Given the description of an element on the screen output the (x, y) to click on. 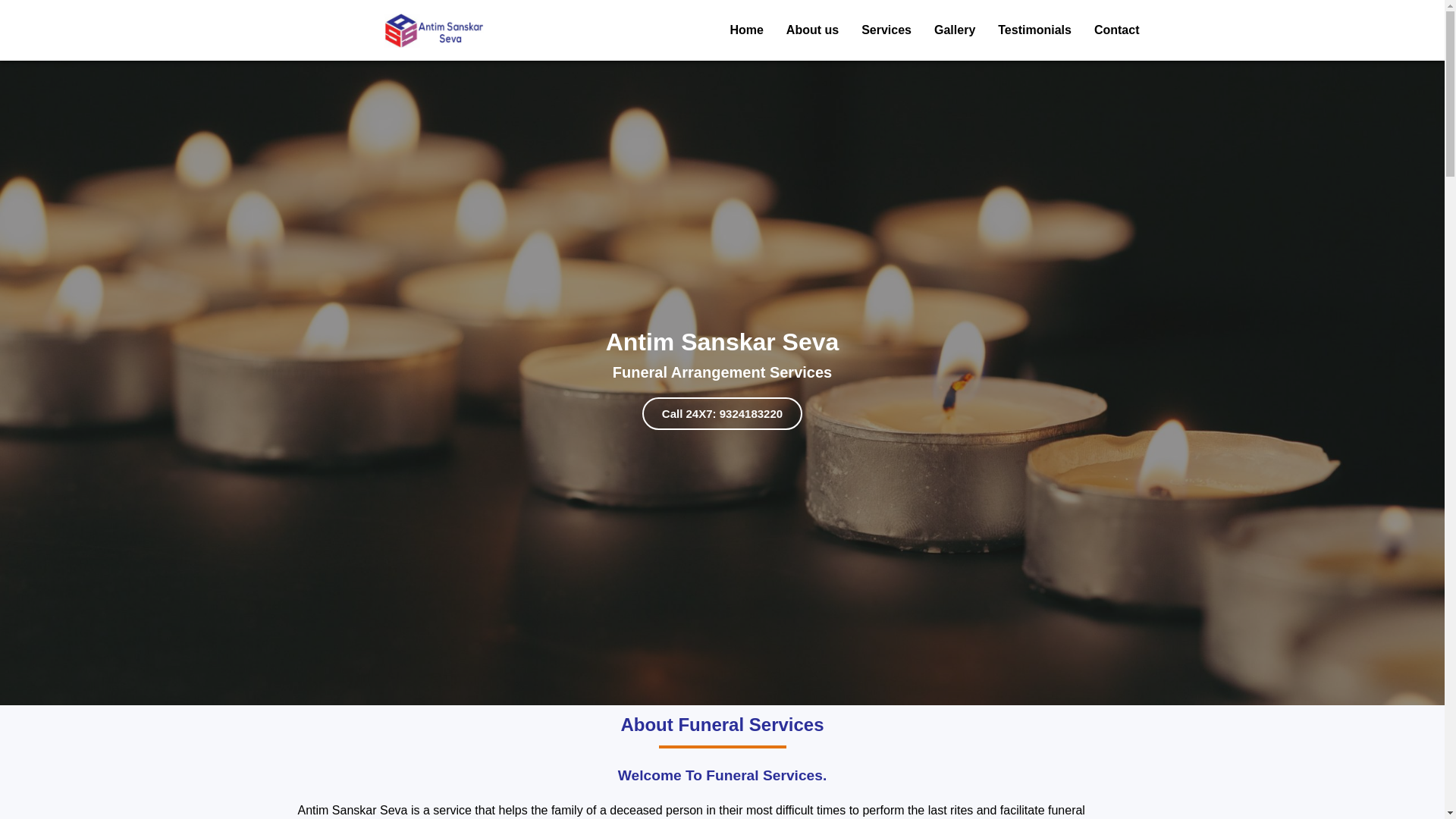
Home (746, 30)
Gallery (954, 30)
Testimonials (1034, 30)
About us (811, 30)
Contact (1116, 30)
Services (885, 30)
